Given the description of an element on the screen output the (x, y) to click on. 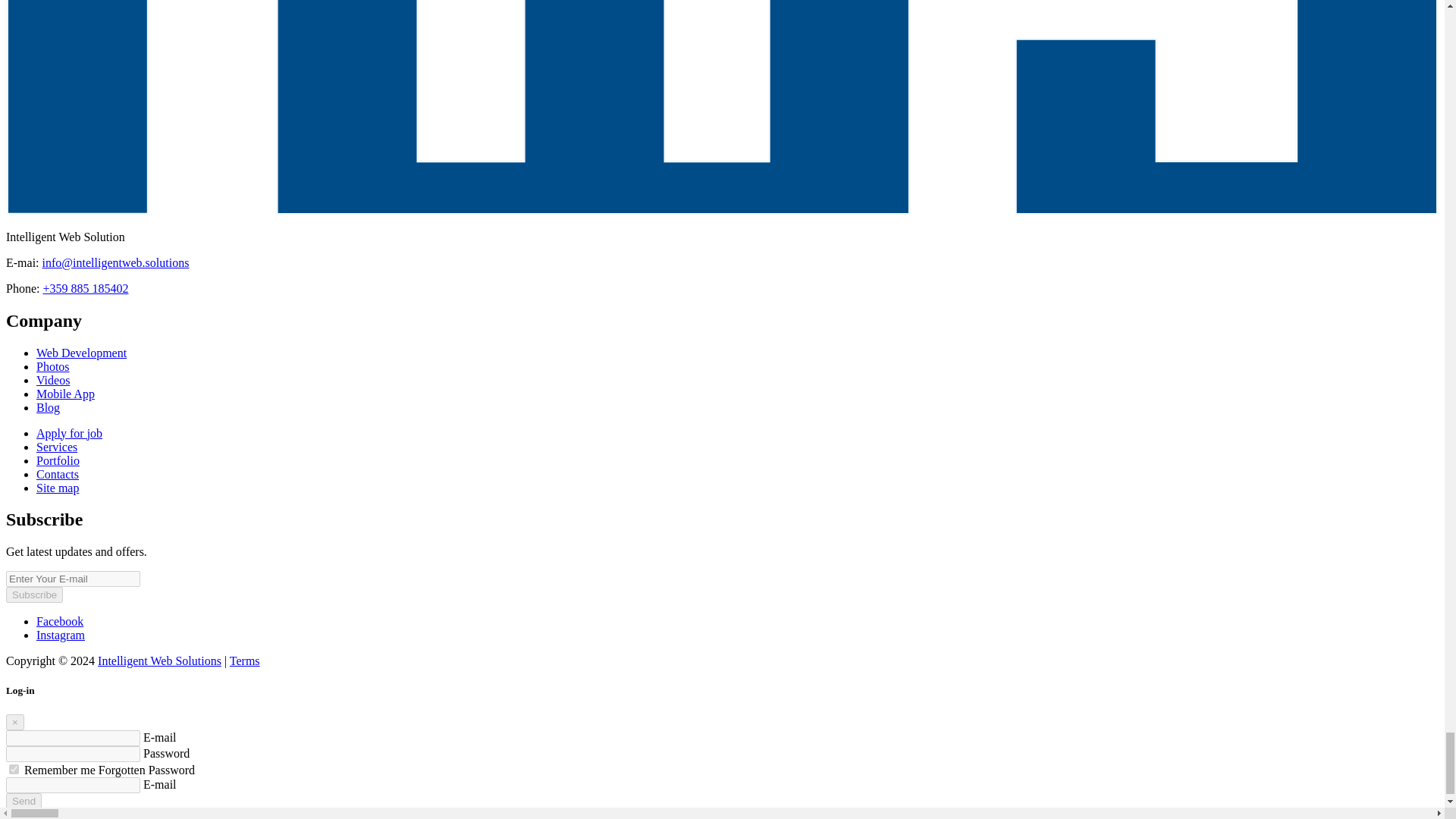
true (13, 768)
